Given the description of an element on the screen output the (x, y) to click on. 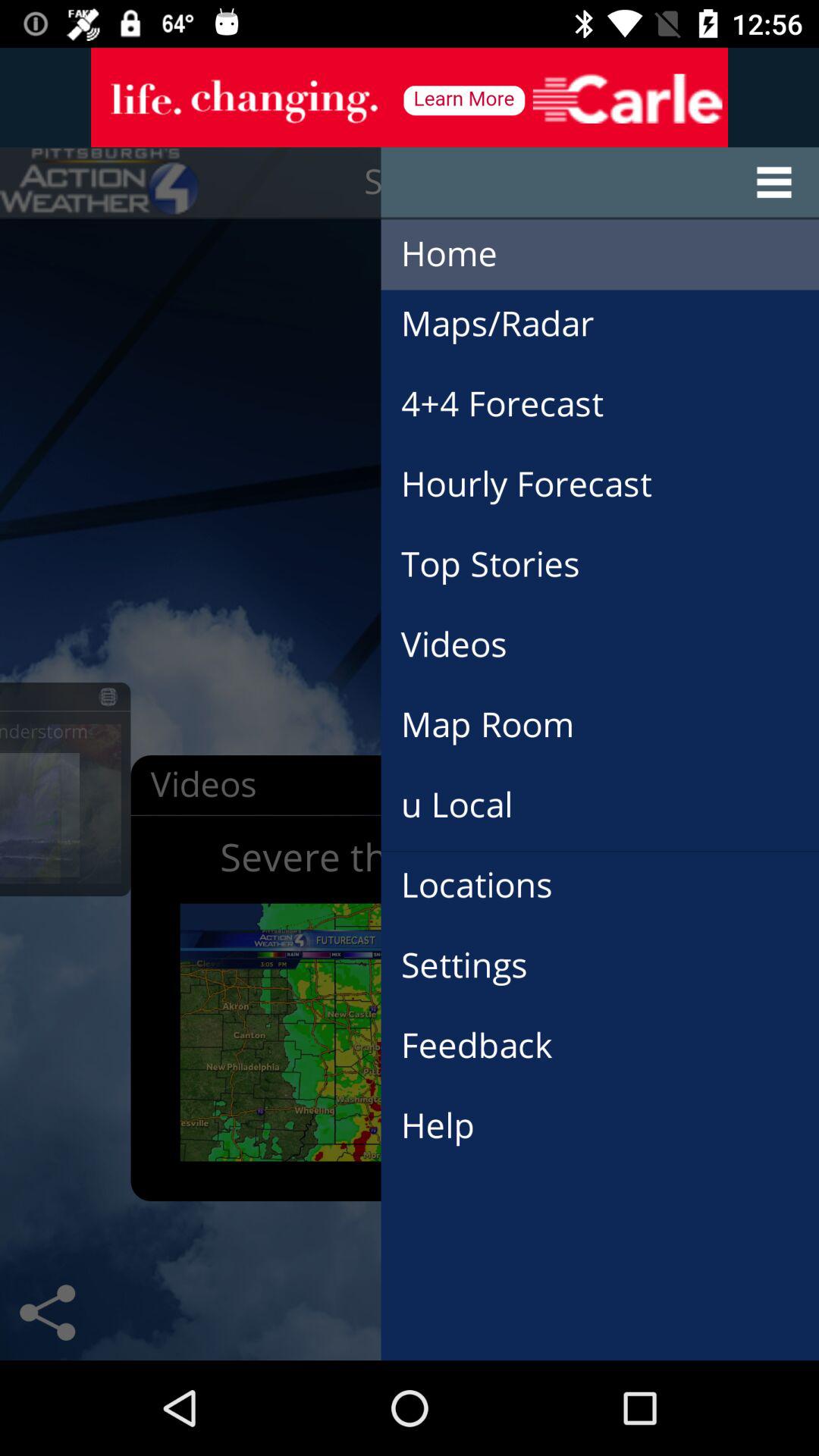
select top stories (506, 547)
